Given the description of an element on the screen output the (x, y) to click on. 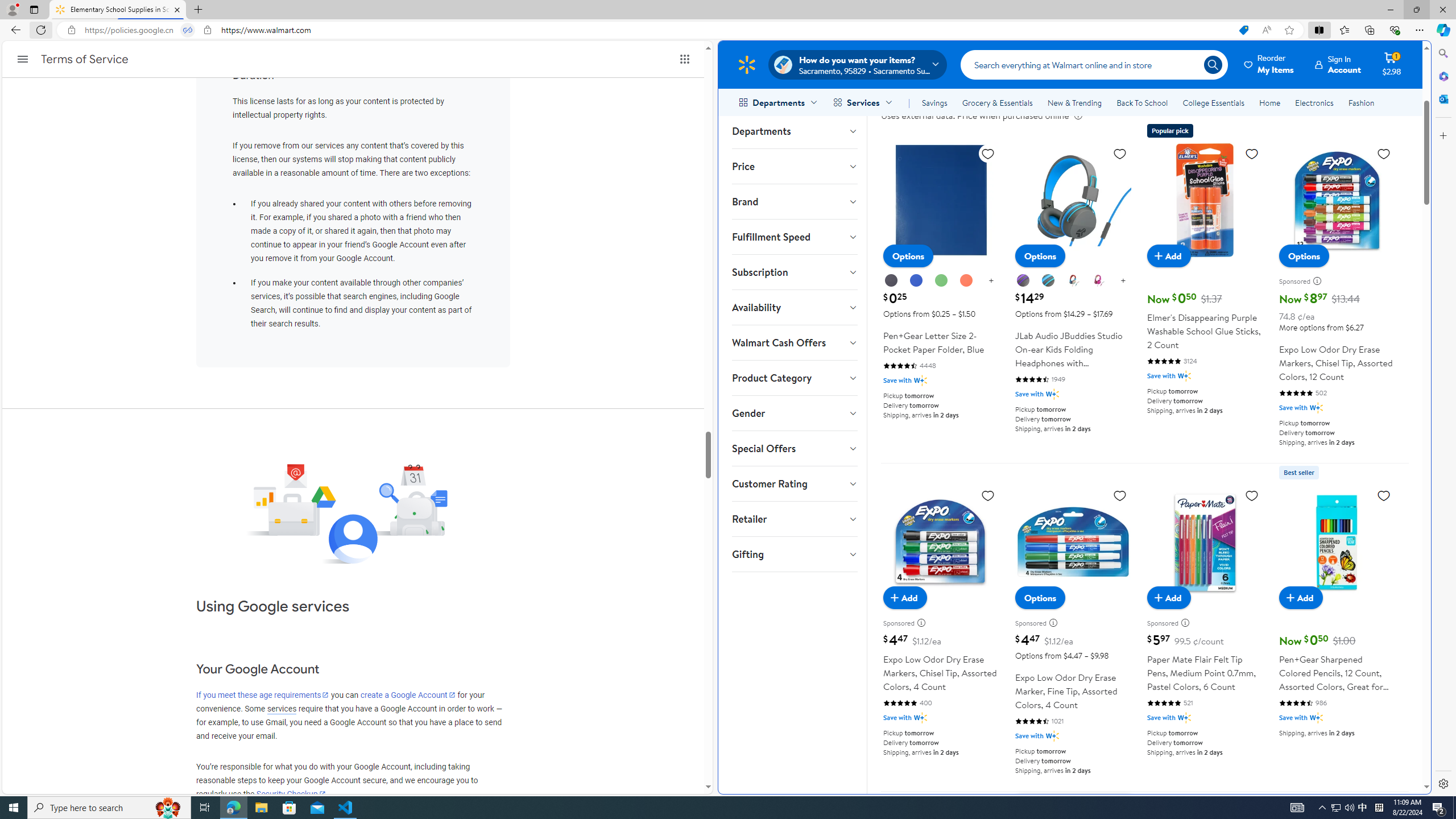
Pink (1098, 280)
Orange (966, 280)
ReorderMy Items (1269, 64)
Options - Pen+Gear Letter Size 2-Pocket Paper Folder, Blue (908, 255)
Walmart Cash Offers (794, 342)
legal information (1078, 115)
Electronics (1314, 102)
